Given the description of an element on the screen output the (x, y) to click on. 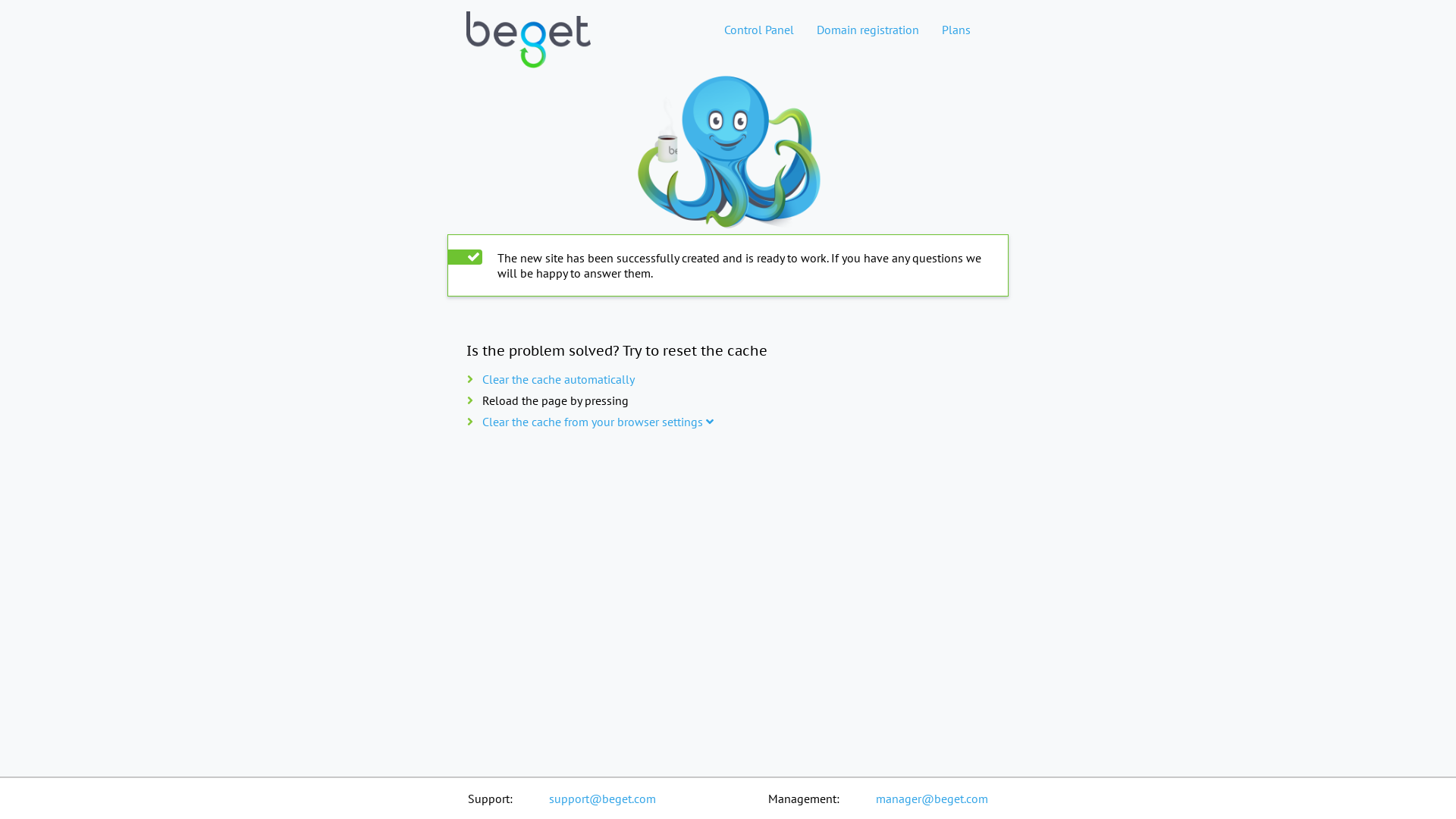
support@beget.com Element type: text (602, 798)
Plans Element type: text (956, 29)
Control Panel Element type: text (758, 29)
manager@beget.com Element type: text (931, 798)
Web hosting home page Element type: hover (528, 29)
Domain registration Element type: text (867, 29)
Clear the cache automatically Element type: text (558, 378)
Clear the cache from your browser settings Element type: text (597, 421)
